Given the description of an element on the screen output the (x, y) to click on. 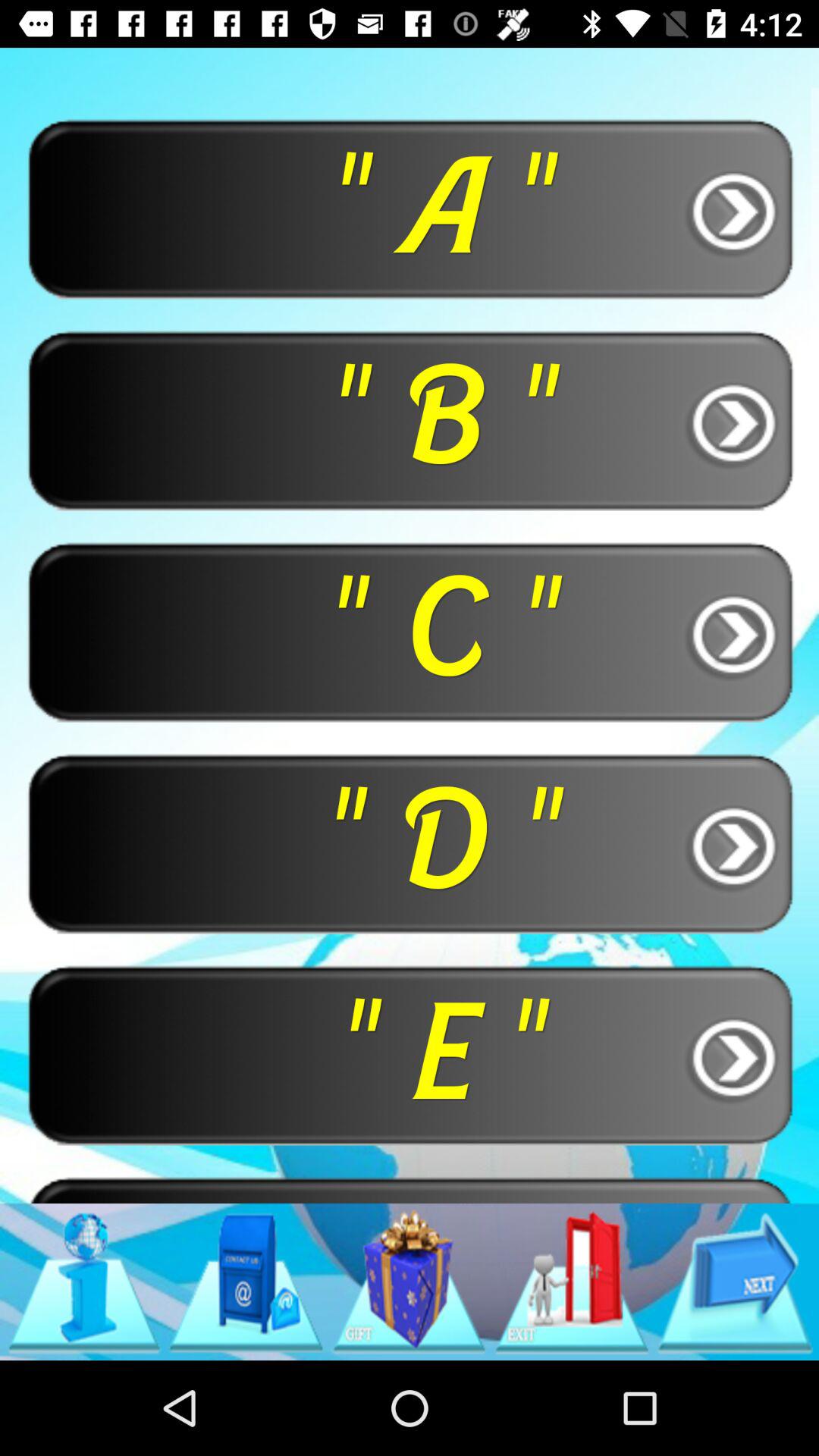
click the button below the   " b " button (409, 631)
